Given the description of an element on the screen output the (x, y) to click on. 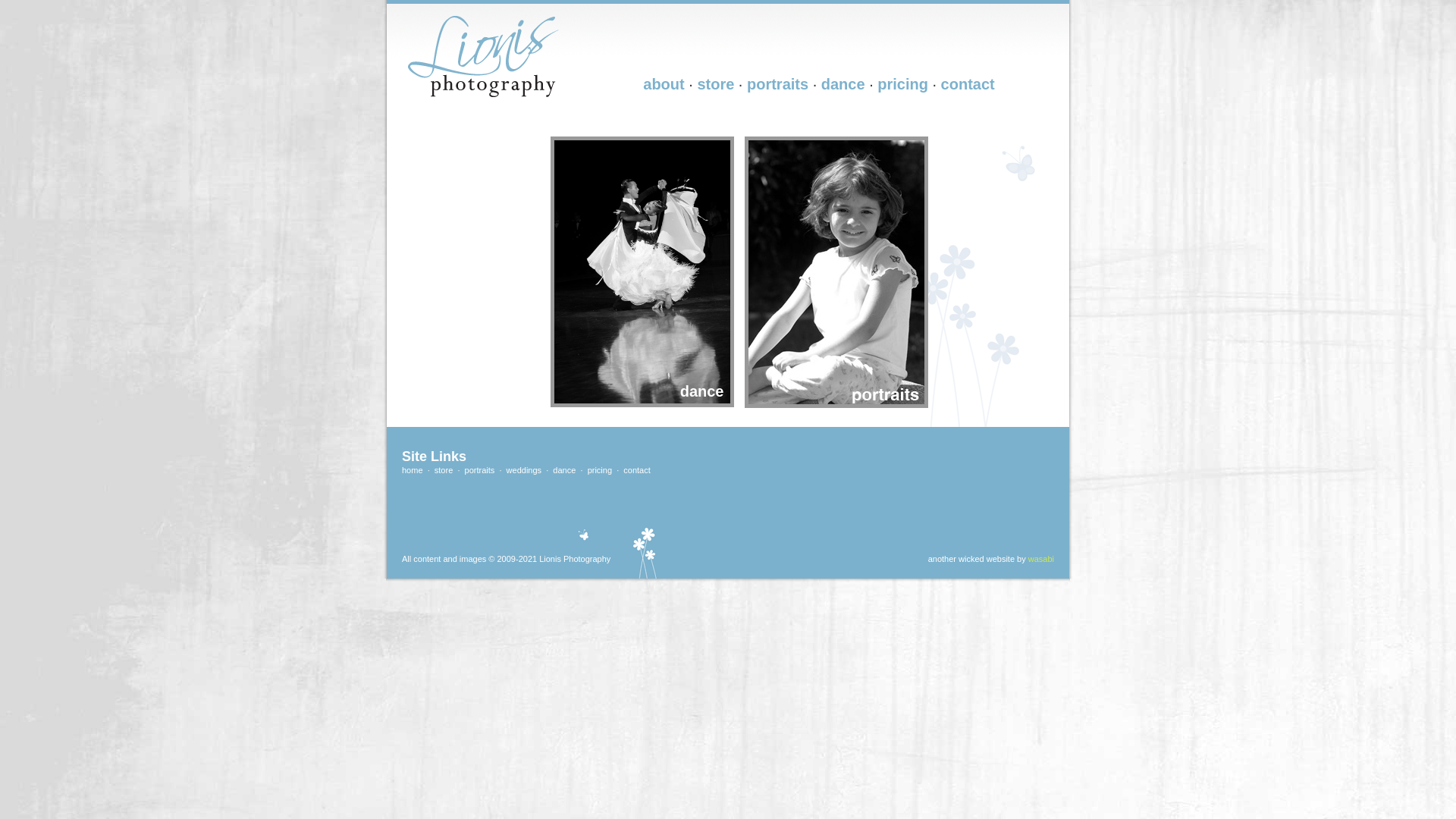
pricing Element type: text (902, 83)
contact Element type: text (967, 83)
about Element type: text (663, 83)
portraits Element type: text (777, 83)
weddings Element type: text (523, 469)
dance Element type: text (563, 469)
store Element type: text (715, 83)
pricing Element type: text (599, 469)
wasabi Element type: text (1041, 558)
dance Element type: text (643, 137)
portraits Element type: text (479, 469)
dance Element type: text (843, 83)
store Element type: text (443, 469)
home Element type: text (412, 469)
contact Element type: text (636, 469)
